Given the description of an element on the screen output the (x, y) to click on. 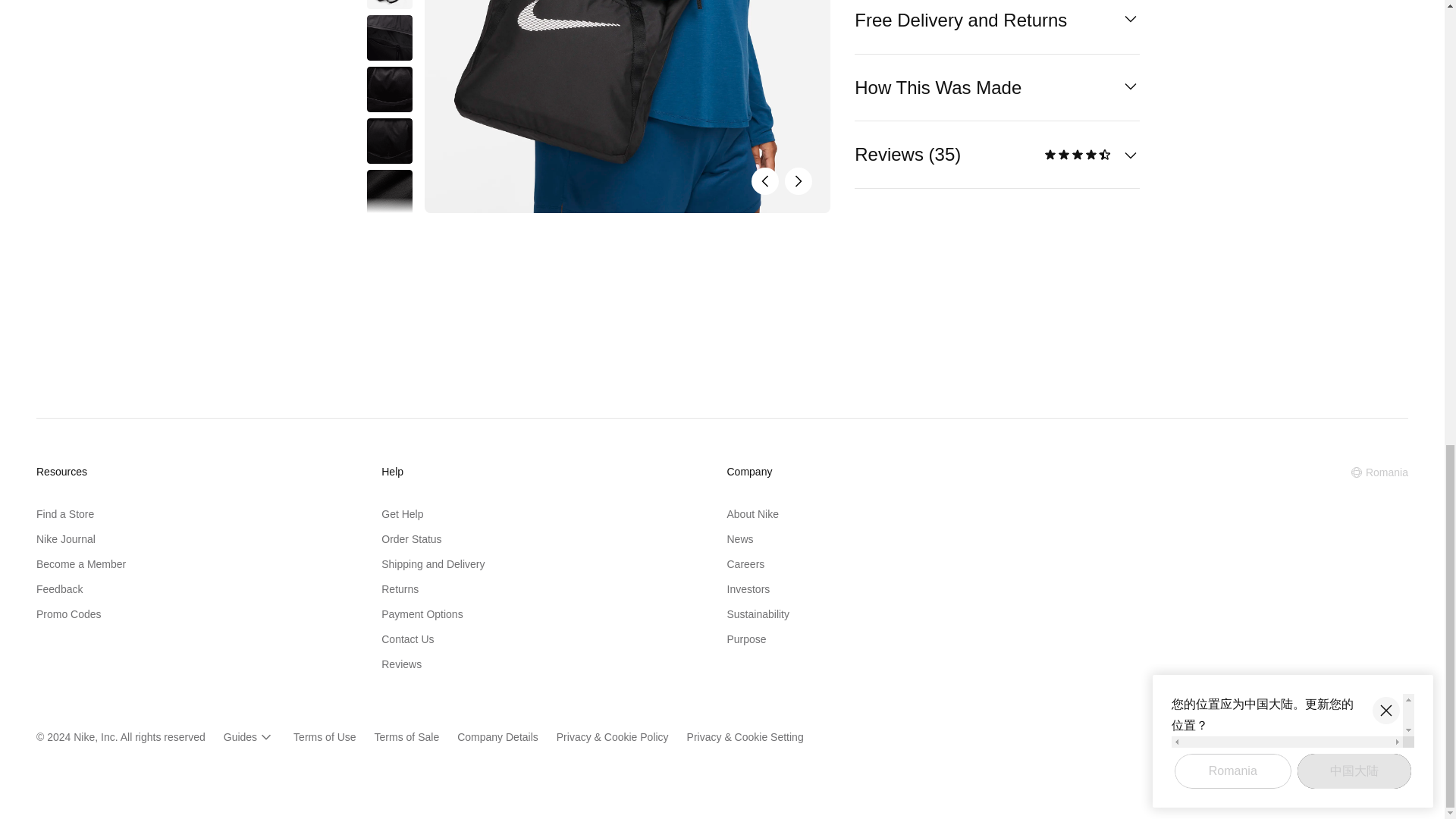
Selected Location: Romania (1379, 472)
4.4 Stars (1077, 155)
